Given the description of an element on the screen output the (x, y) to click on. 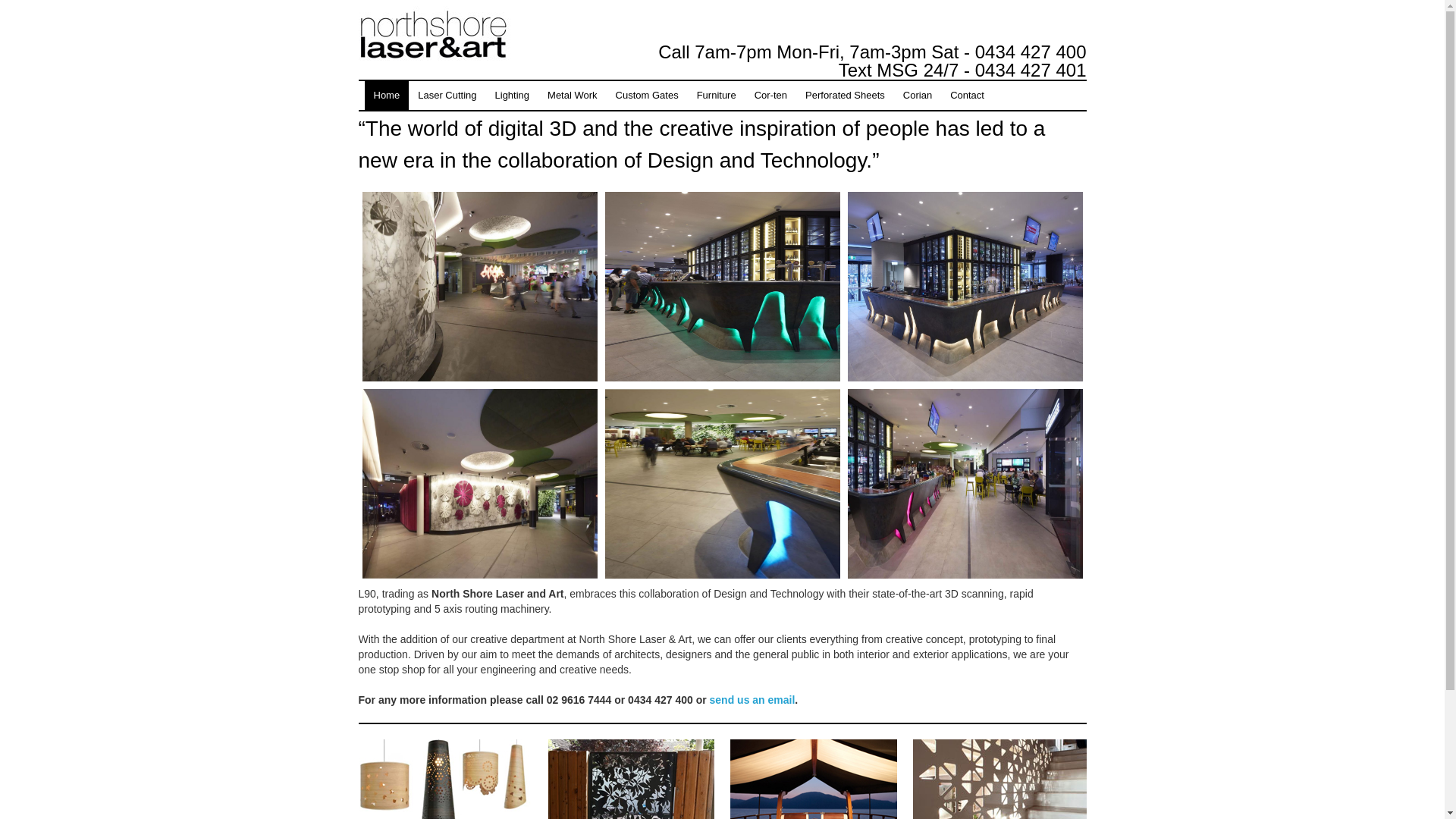
Corian Element type: text (917, 95)
Cor-ten Element type: text (770, 95)
Home Element type: text (386, 95)
send us an email Element type: text (752, 699)
Custom Gates Element type: text (646, 95)
Furniture Element type: text (716, 95)
Lighting Element type: text (512, 95)
Contact Element type: text (967, 95)
Metal Work Element type: text (572, 95)
Laser Cutting Element type: text (446, 95)
Perforated Sheets Element type: text (845, 95)
